Given the description of an element on the screen output the (x, y) to click on. 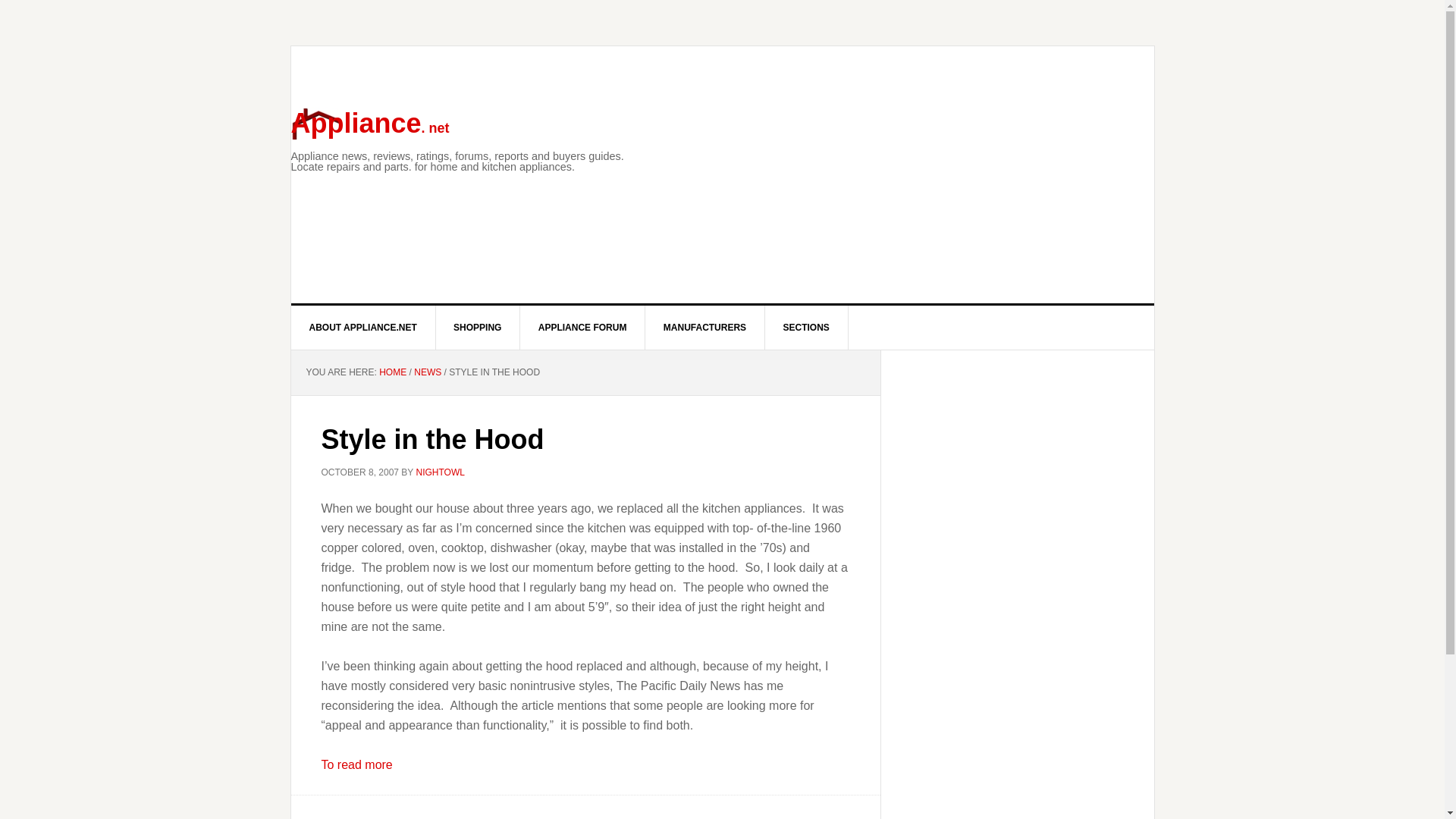
SECTIONS (805, 327)
HOME (392, 371)
Advertisement (946, 213)
Appliance. net (370, 122)
SHOPPING (477, 327)
NEWS (427, 371)
APPLIANCE FORUM (582, 327)
ABOUT APPLIANCE.NET (363, 327)
Appliance . net (370, 122)
